Given the description of an element on the screen output the (x, y) to click on. 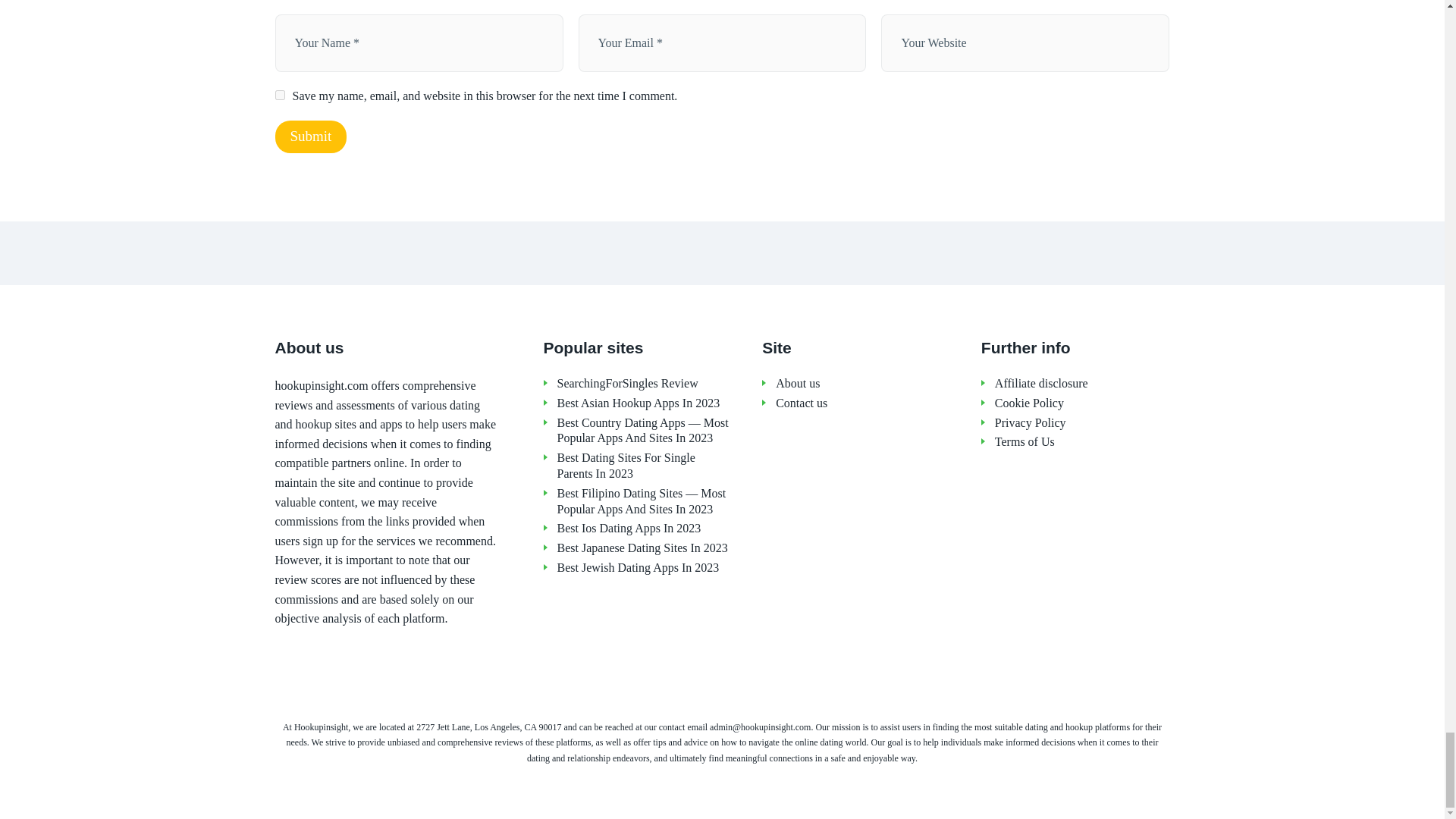
yes (279, 94)
Submit (310, 136)
